Given the description of an element on the screen output the (x, y) to click on. 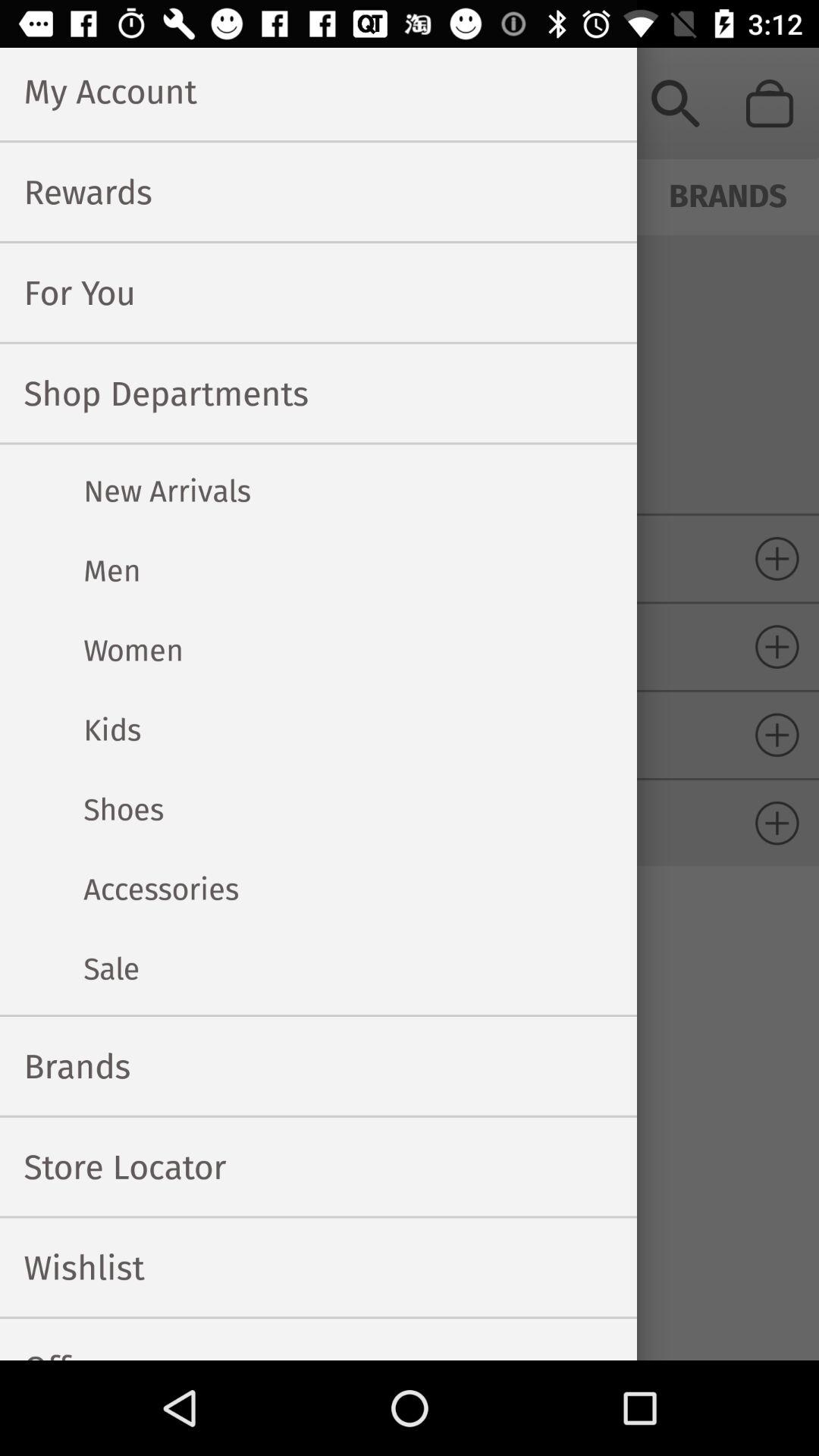
click on brands under search icon (728, 193)
